Given the description of an element on the screen output the (x, y) to click on. 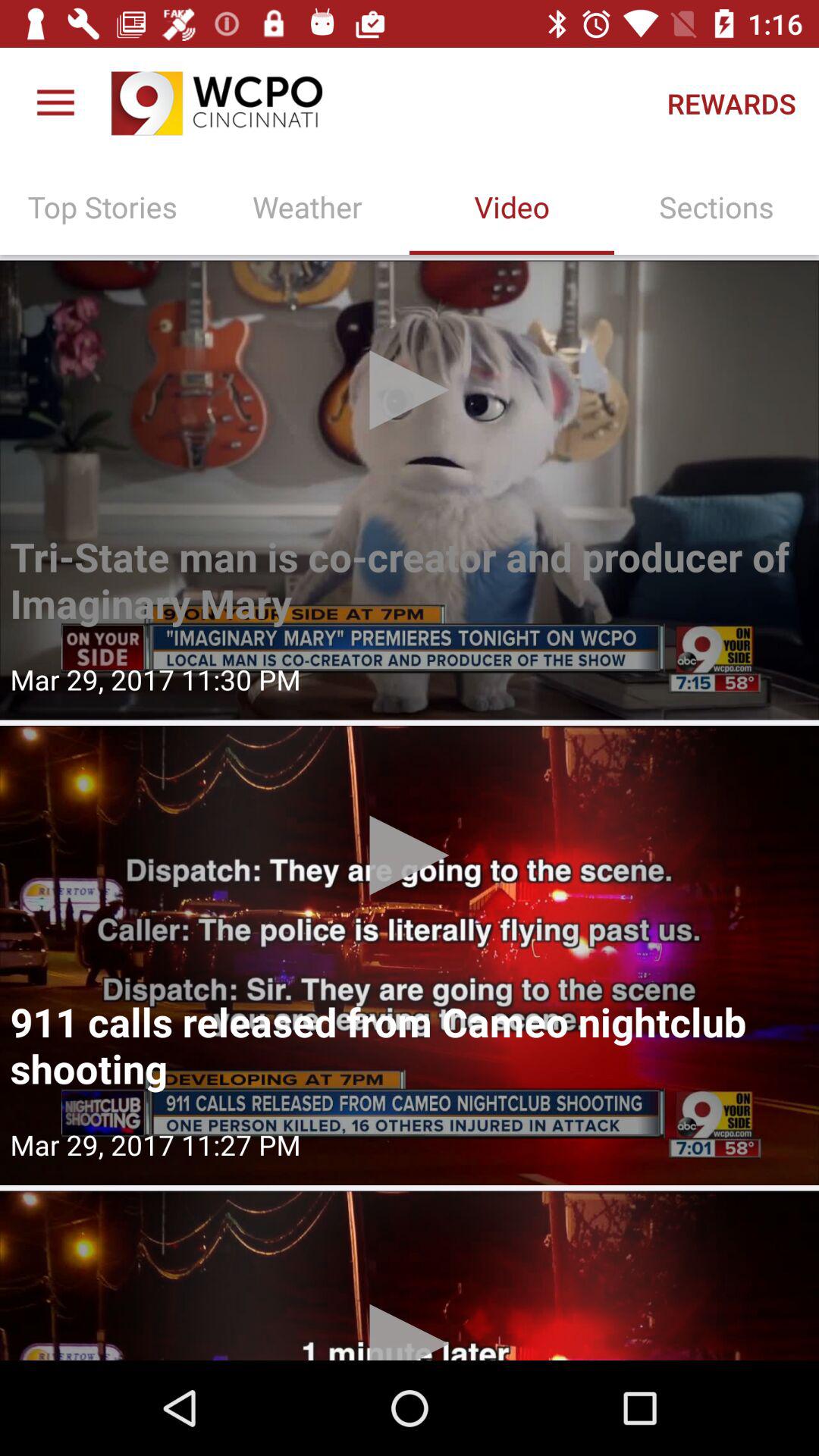
open selected video (409, 955)
